Given the description of an element on the screen output the (x, y) to click on. 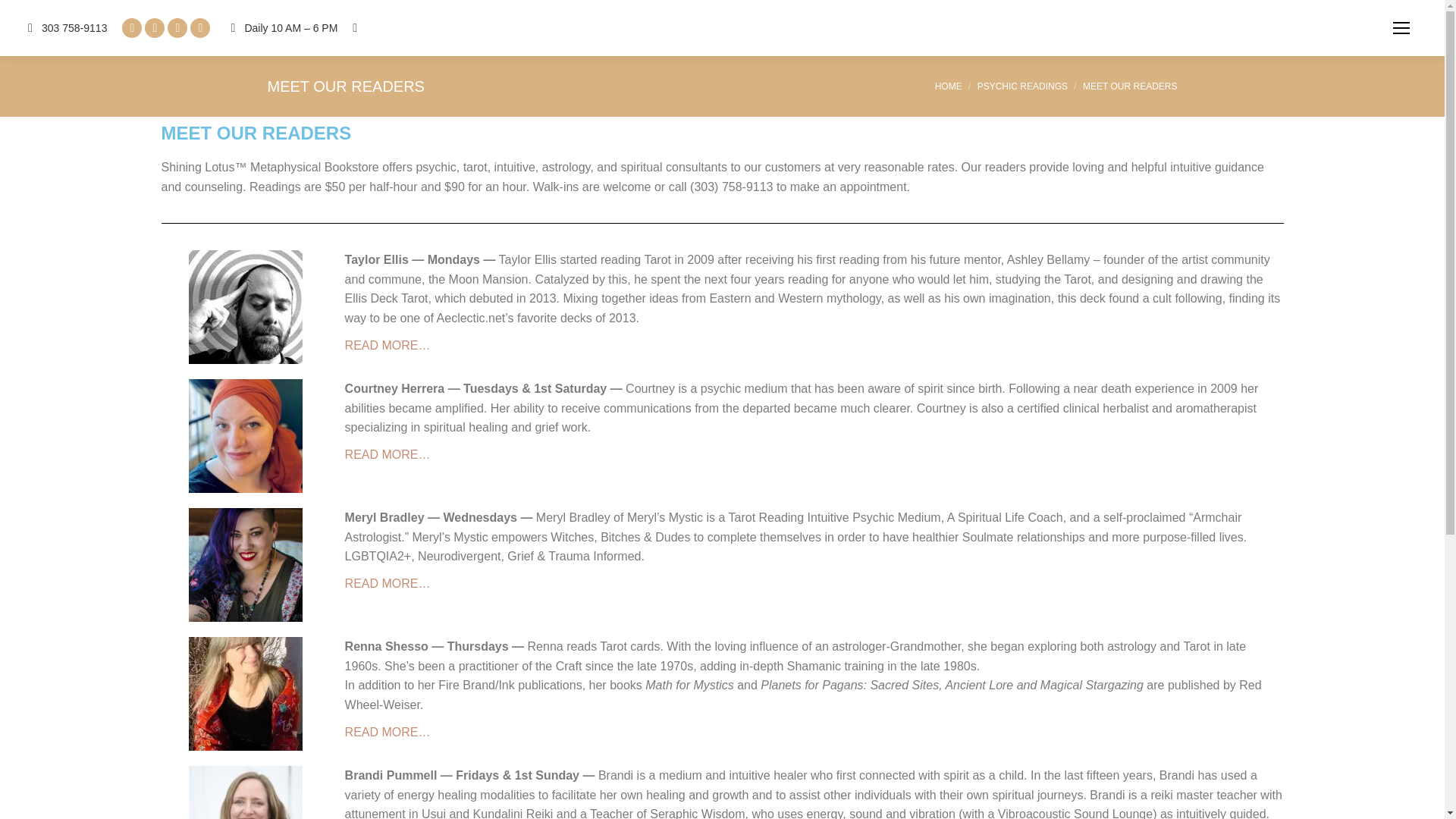
YouTube page opens in new window (199, 27)
X page opens in new window (154, 27)
Facebook page opens in new window (131, 27)
Go! (24, 14)
Instagram page opens in new window (177, 27)
